Given the description of an element on the screen output the (x, y) to click on. 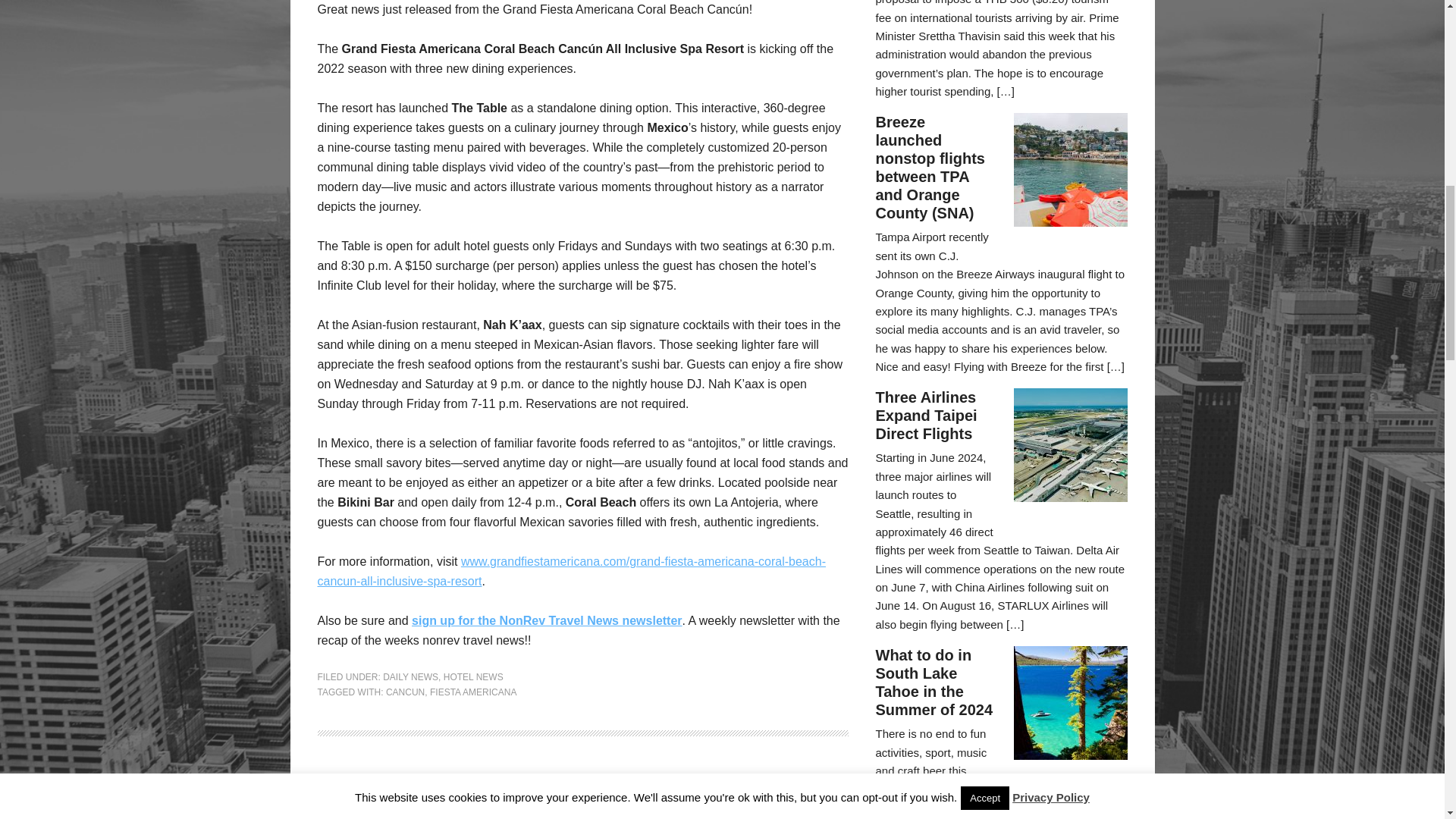
sign up for the NonRev Travel News newsletter (547, 620)
What to do in South Lake Tahoe in the Summer of 2024 (933, 682)
CANCUN (405, 692)
Three Airlines Expand Taipei Direct Flights (925, 415)
HOTEL NEWS (473, 676)
DAILY NEWS (410, 676)
FIESTA AMERICANA (472, 692)
